Given the description of an element on the screen output the (x, y) to click on. 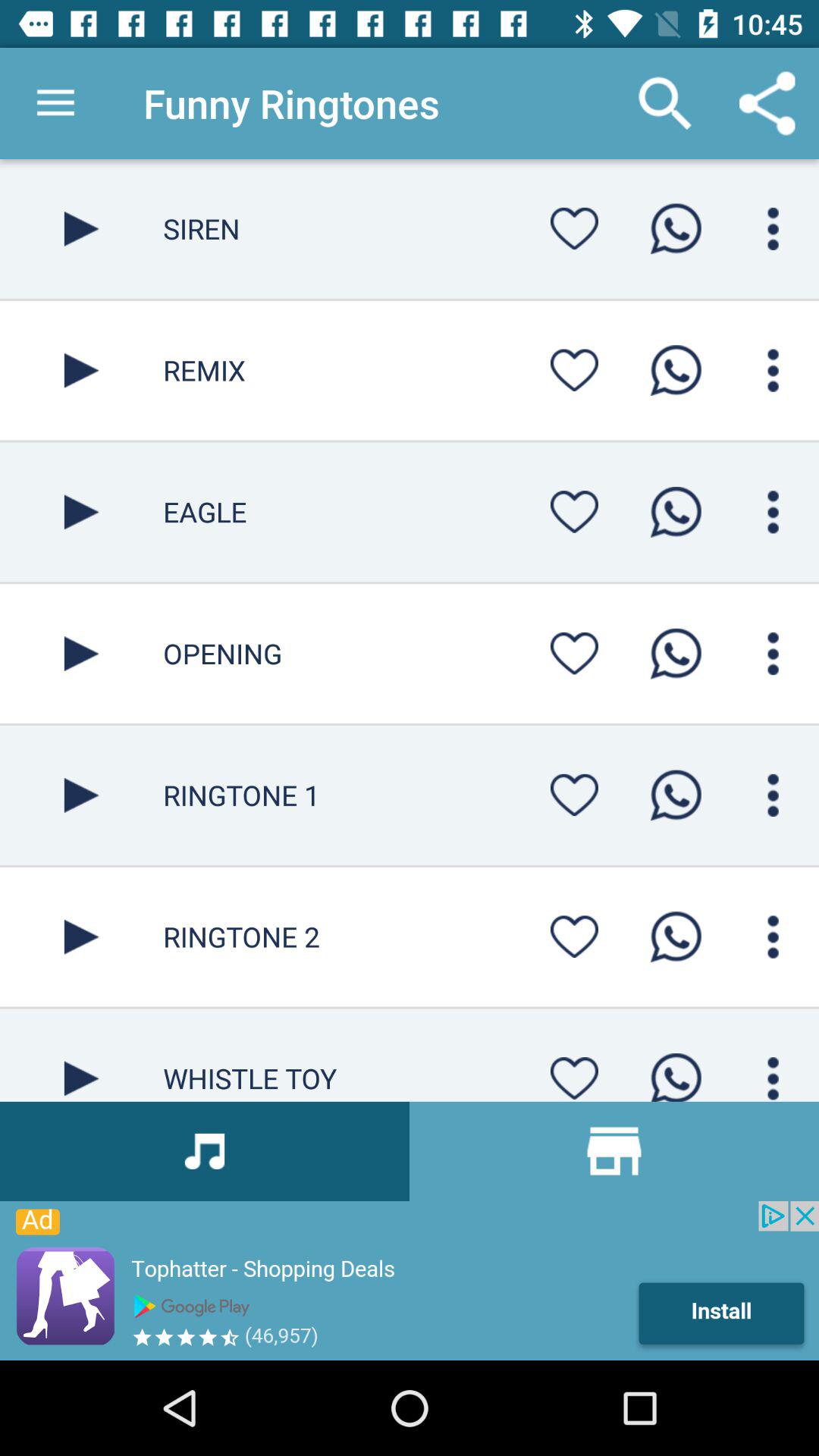
call button (675, 1072)
